Given the description of an element on the screen output the (x, y) to click on. 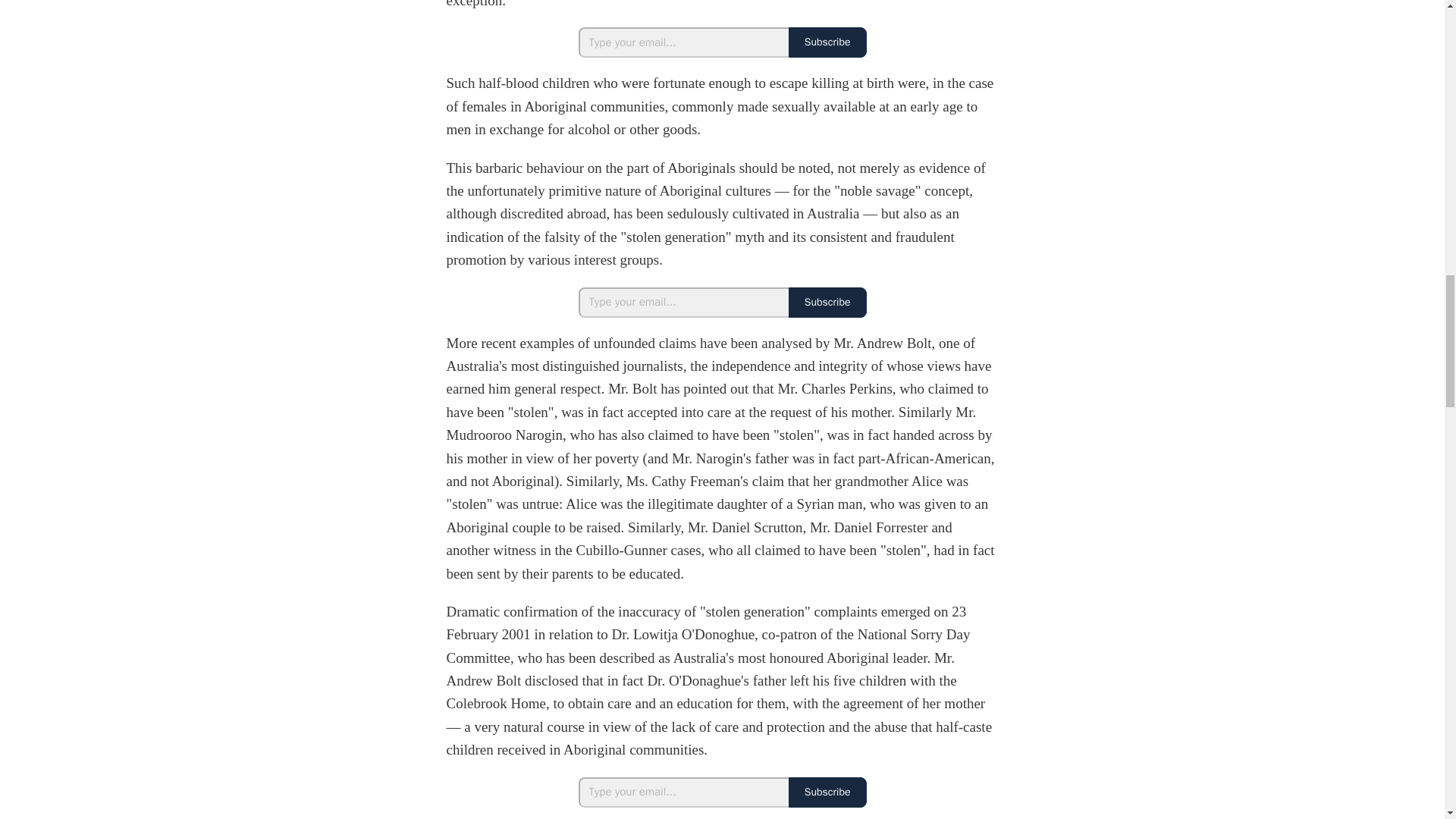
Subscribe (827, 302)
Subscribe (827, 42)
Subscribe (827, 792)
